Given the description of an element on the screen output the (x, y) to click on. 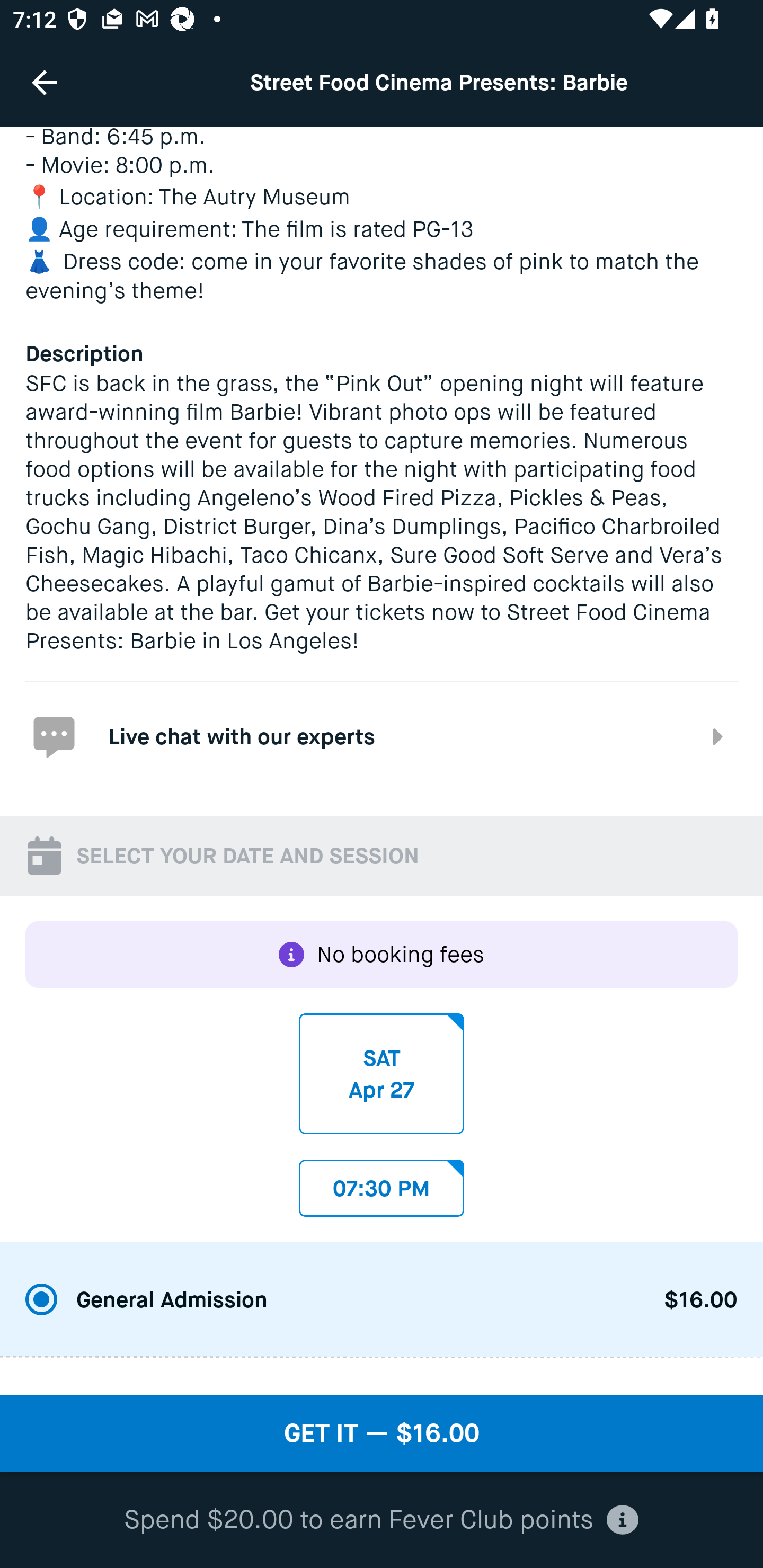
Navigate up (44, 82)
Live chat with our experts (381, 735)
SAT
Apr 27 (381, 1072)
07:30 PM (381, 1182)
General Admission $16.00 (381, 1299)
GET IT — $16.00 (381, 1433)
Spend $20.00 to earn Fever Club points (381, 1519)
